Given the description of an element on the screen output the (x, y) to click on. 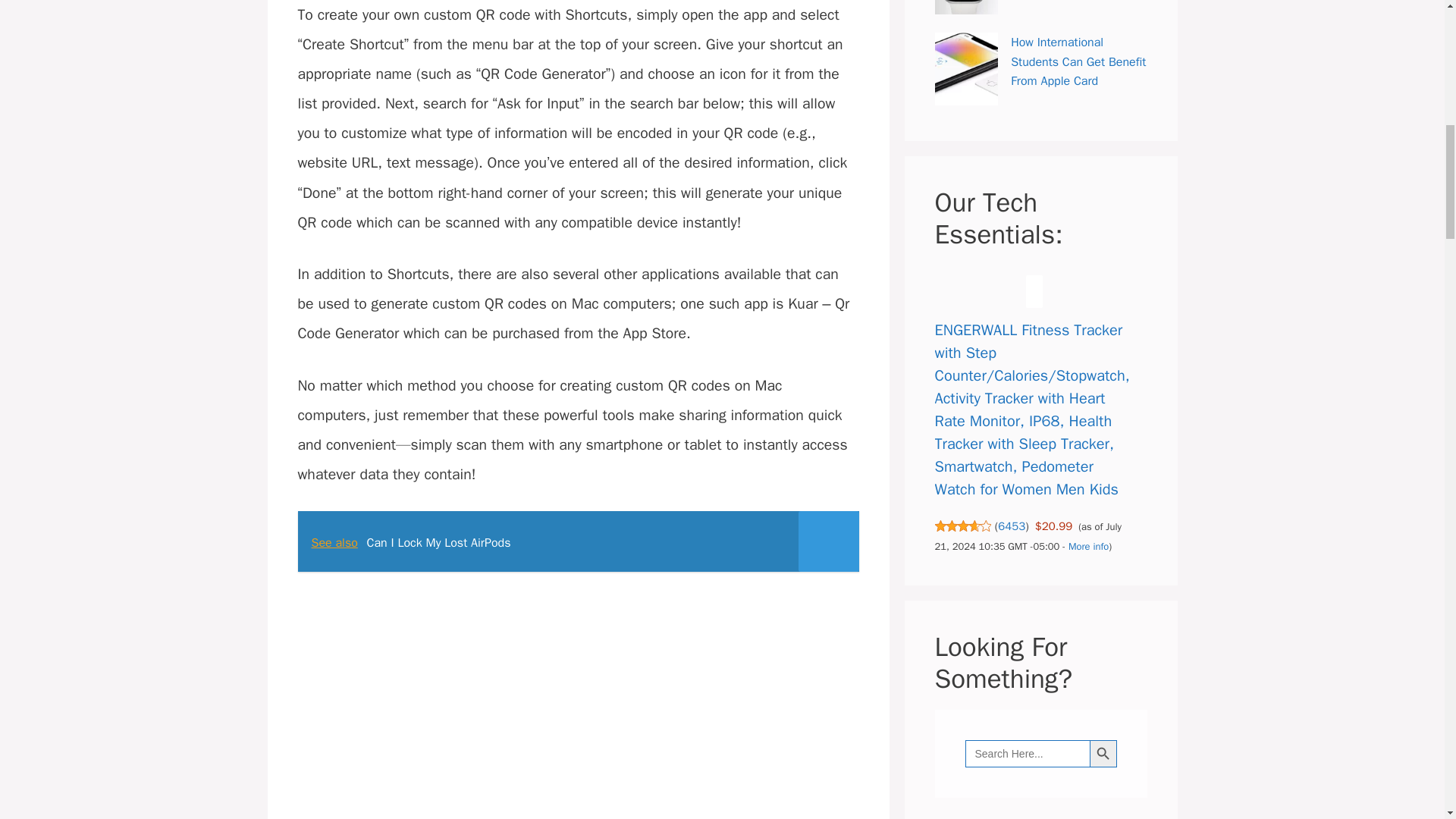
How to Create QR Codes on Your Mac? 2 (578, 703)
